Given the description of an element on the screen output the (x, y) to click on. 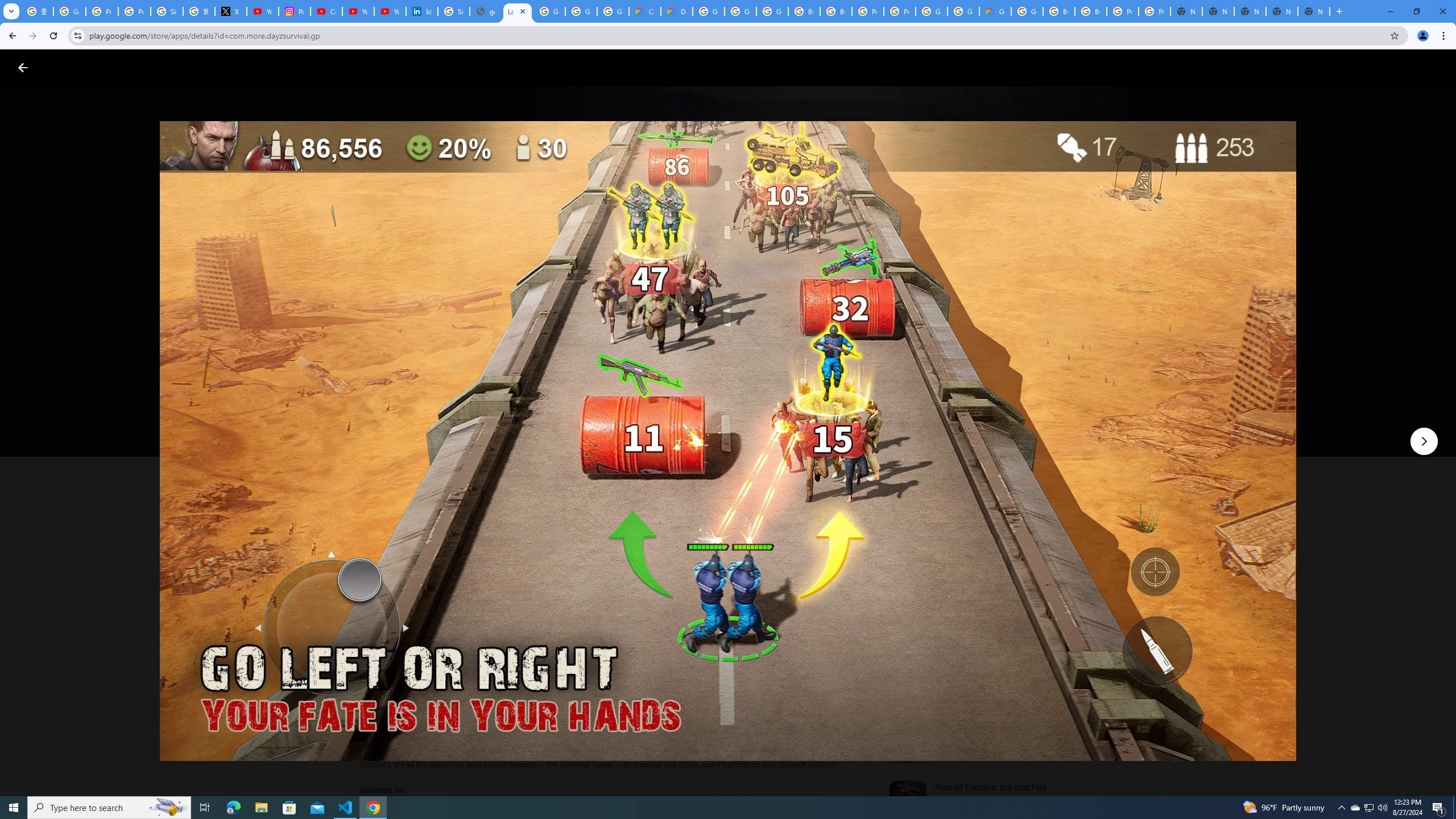
YouTube Content Monetization Policies - How YouTube Works (262, 11)
Google Cloud Platform (1027, 11)
New Tab (1313, 11)
Content rating (553, 373)
Google Cloud Platform (931, 11)
Screenshot image (817, 563)
Close screenshot viewer (22, 67)
